Given the description of an element on the screen output the (x, y) to click on. 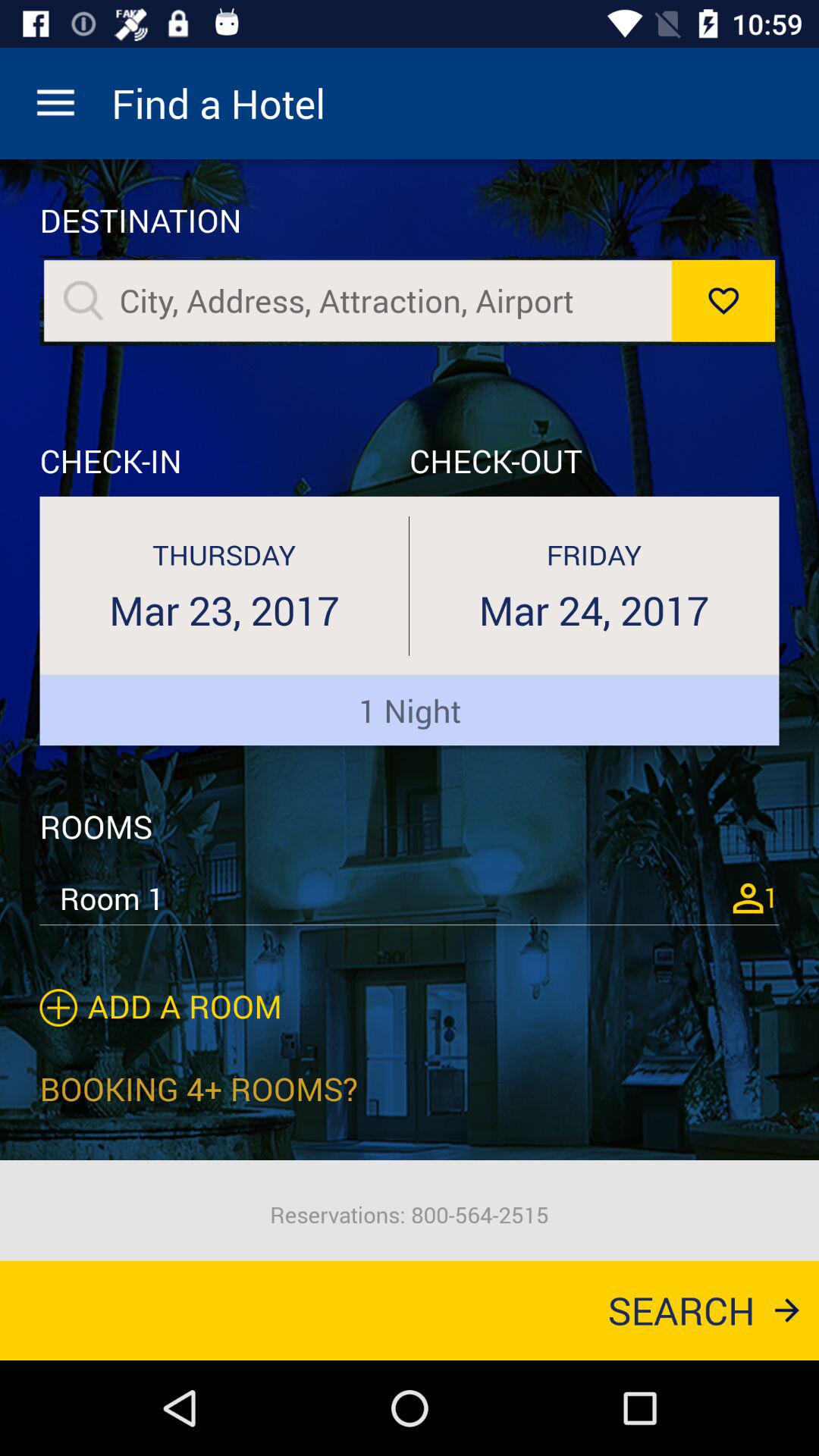
go to sarche (83, 300)
